Given the description of an element on the screen output the (x, y) to click on. 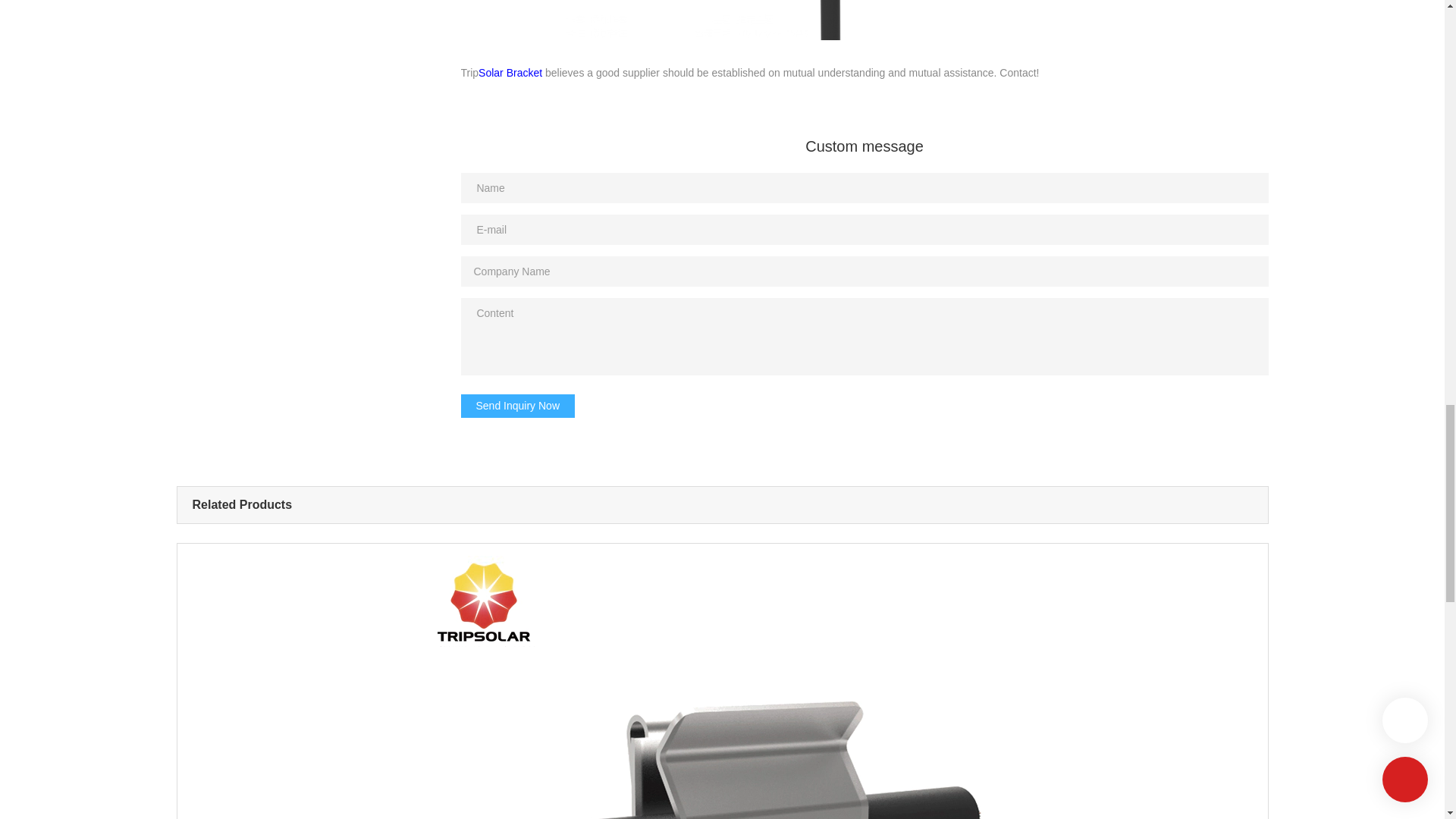
Send Inquiry Now (518, 405)
Solar Bracket (510, 72)
